Given the description of an element on the screen output the (x, y) to click on. 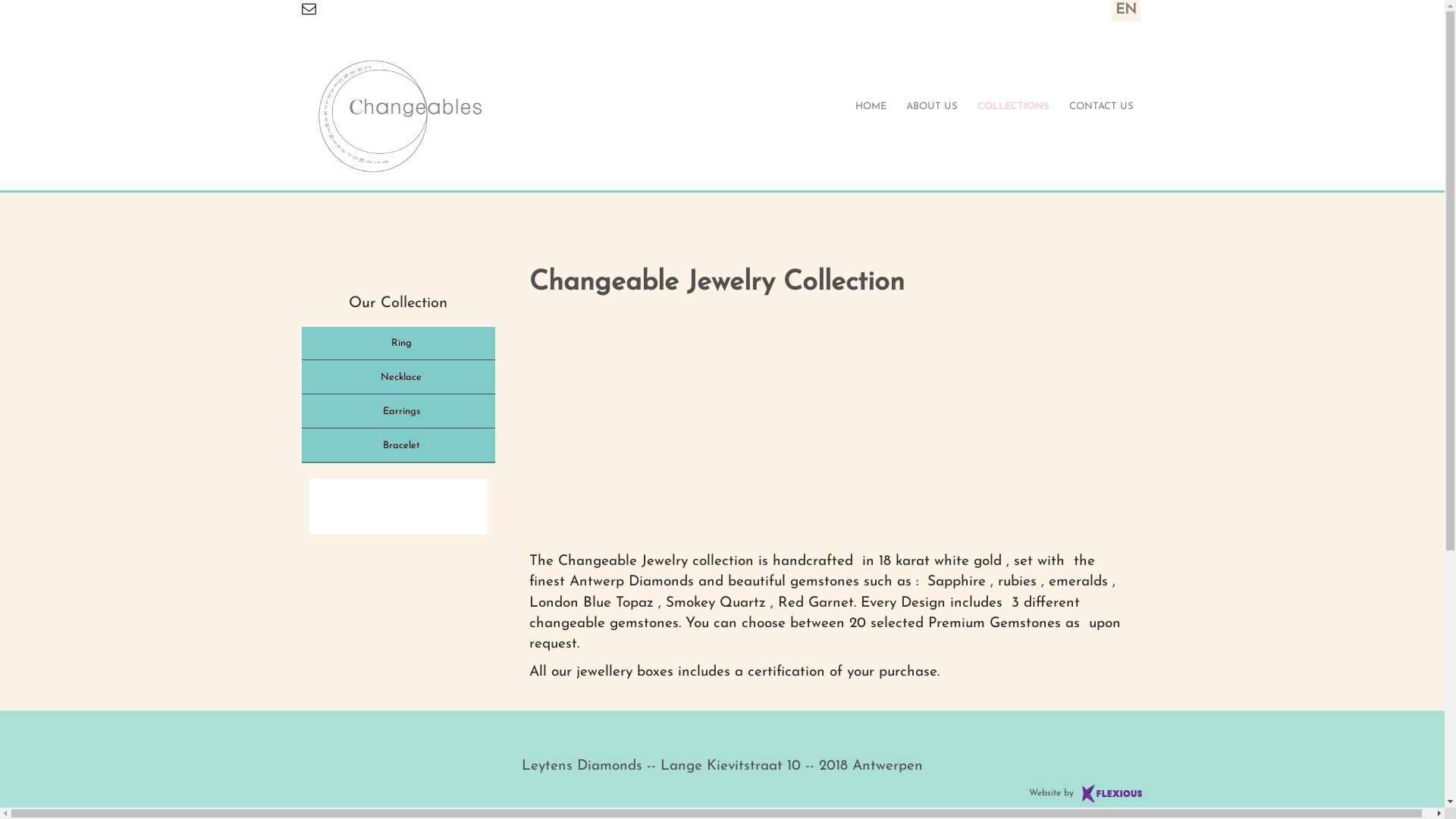
FleXious Element type: hover (1110, 793)
Contact Element type: text (327, 30)
  Necklace Element type: text (398, 377)
  Ring Element type: text (398, 343)
ABOUT US Element type: text (931, 106)
CONTACT US Element type: text (1100, 106)
HOME Element type: text (869, 106)
COLLECTIONS Element type: text (1013, 106)
  Bracelet Element type: text (398, 445)
  Earrings Element type: text (398, 411)
